Given the description of an element on the screen output the (x, y) to click on. 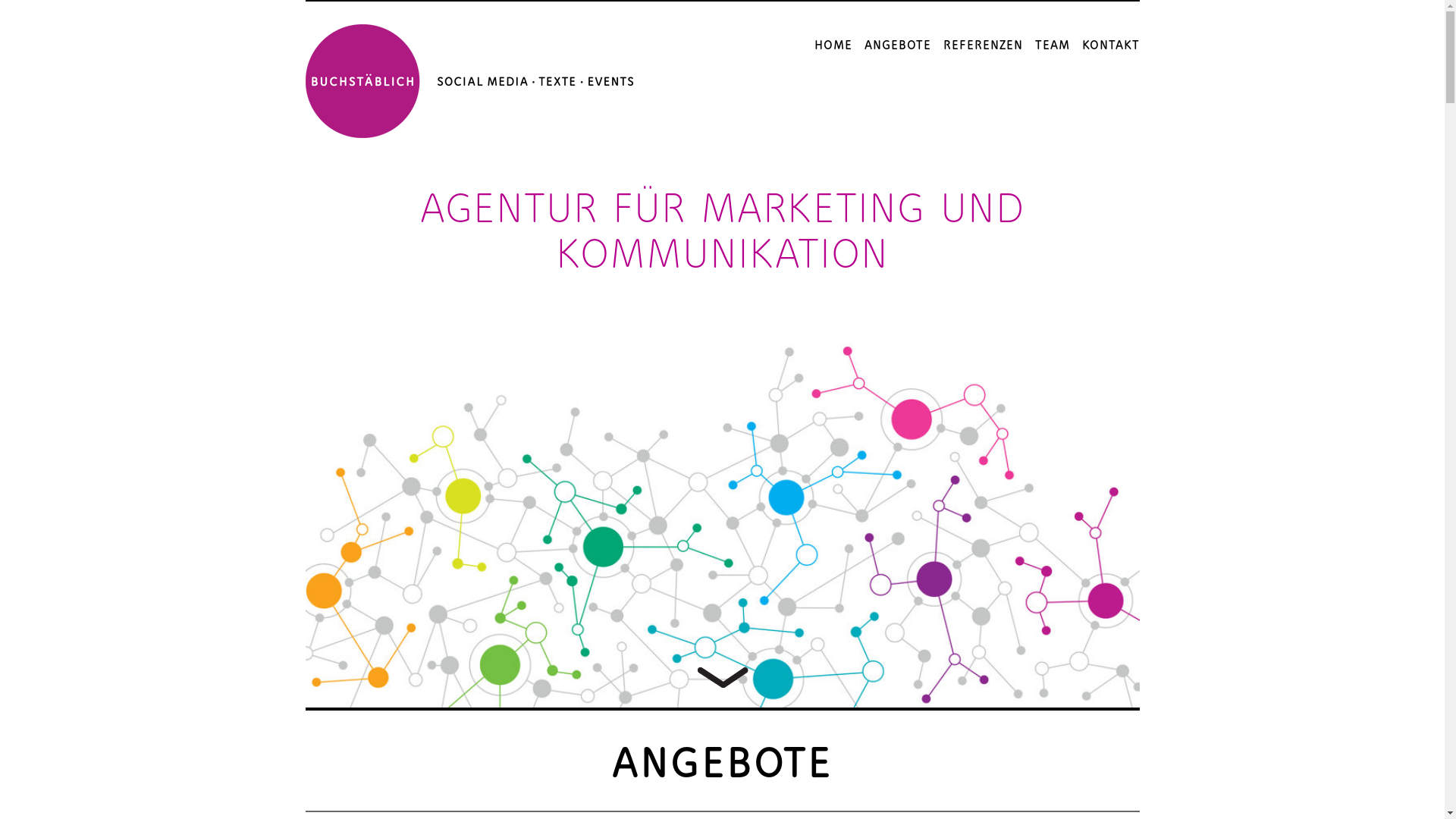
REFERENZEN Element type: text (982, 45)
HOME Element type: text (833, 45)
ANGEBOTE Element type: text (897, 45)
TEAM Element type: text (1051, 45)
KONTAKT Element type: text (1110, 45)
